Given the description of an element on the screen output the (x, y) to click on. 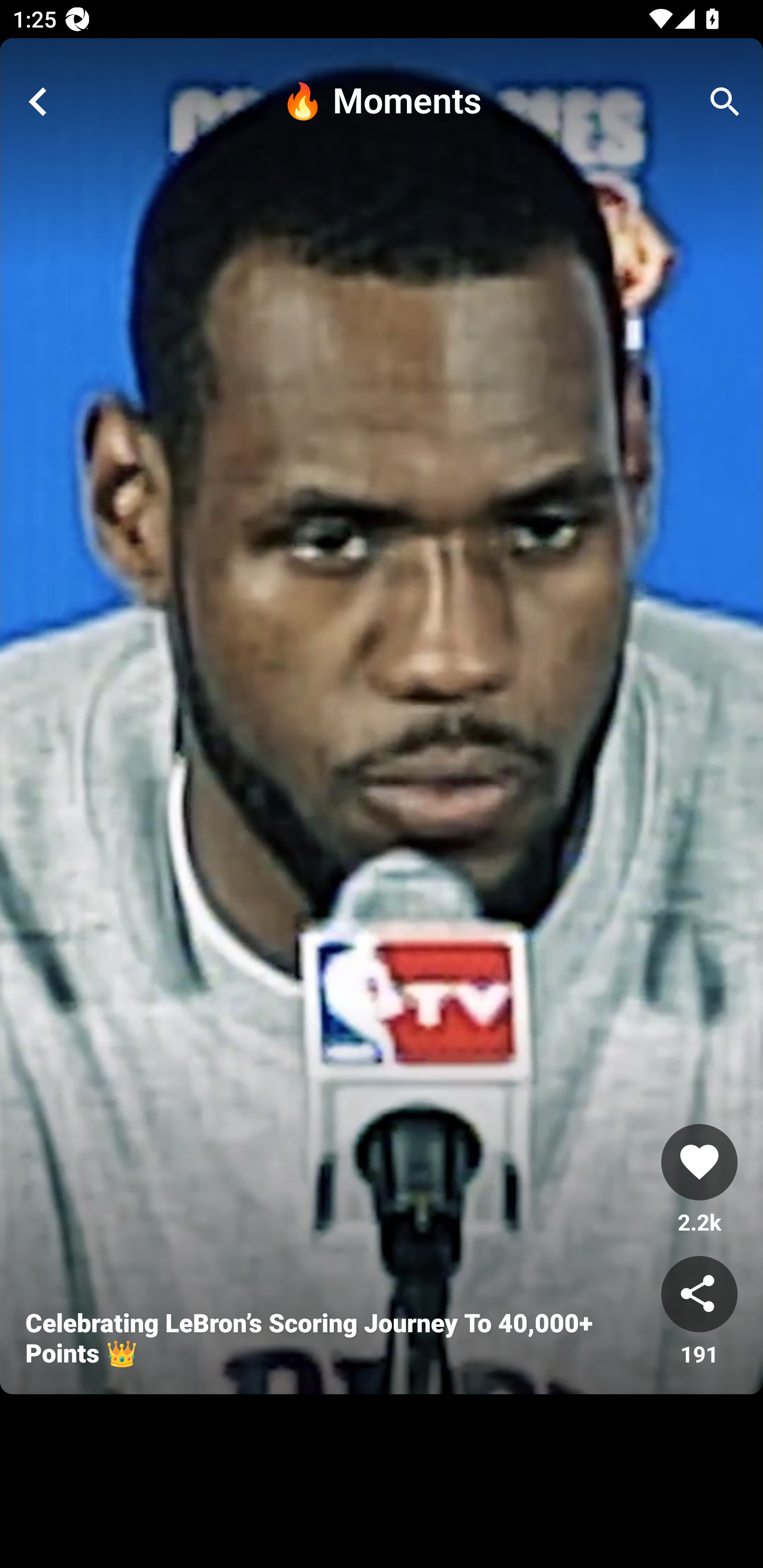
close (38, 101)
search (724, 101)
like 2.2k 2188 Likes (699, 1180)
share 191 191 Shares (699, 1311)
